Given the description of an element on the screen output the (x, y) to click on. 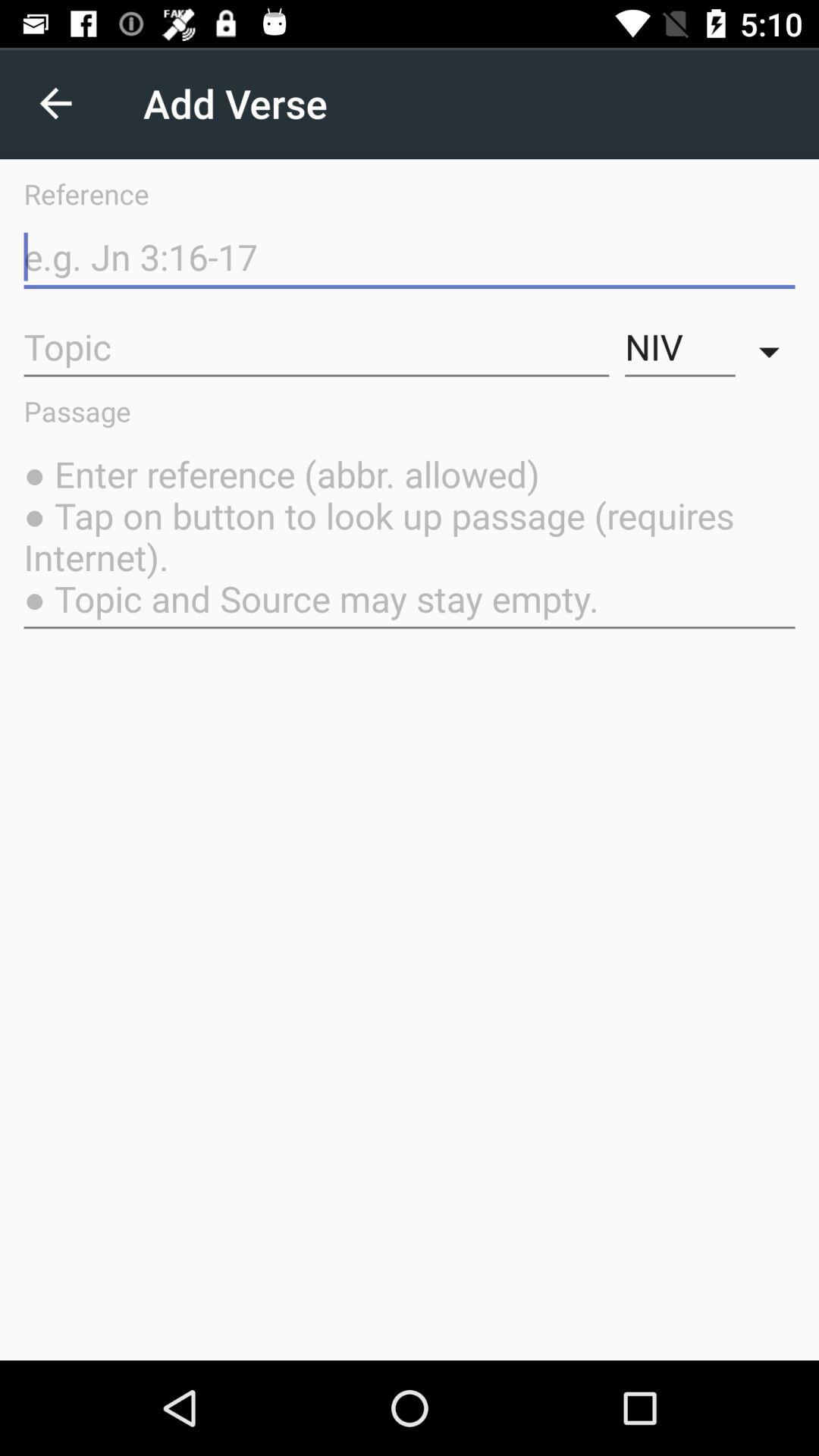
open item above the passage item (773, 347)
